Given the description of an element on the screen output the (x, y) to click on. 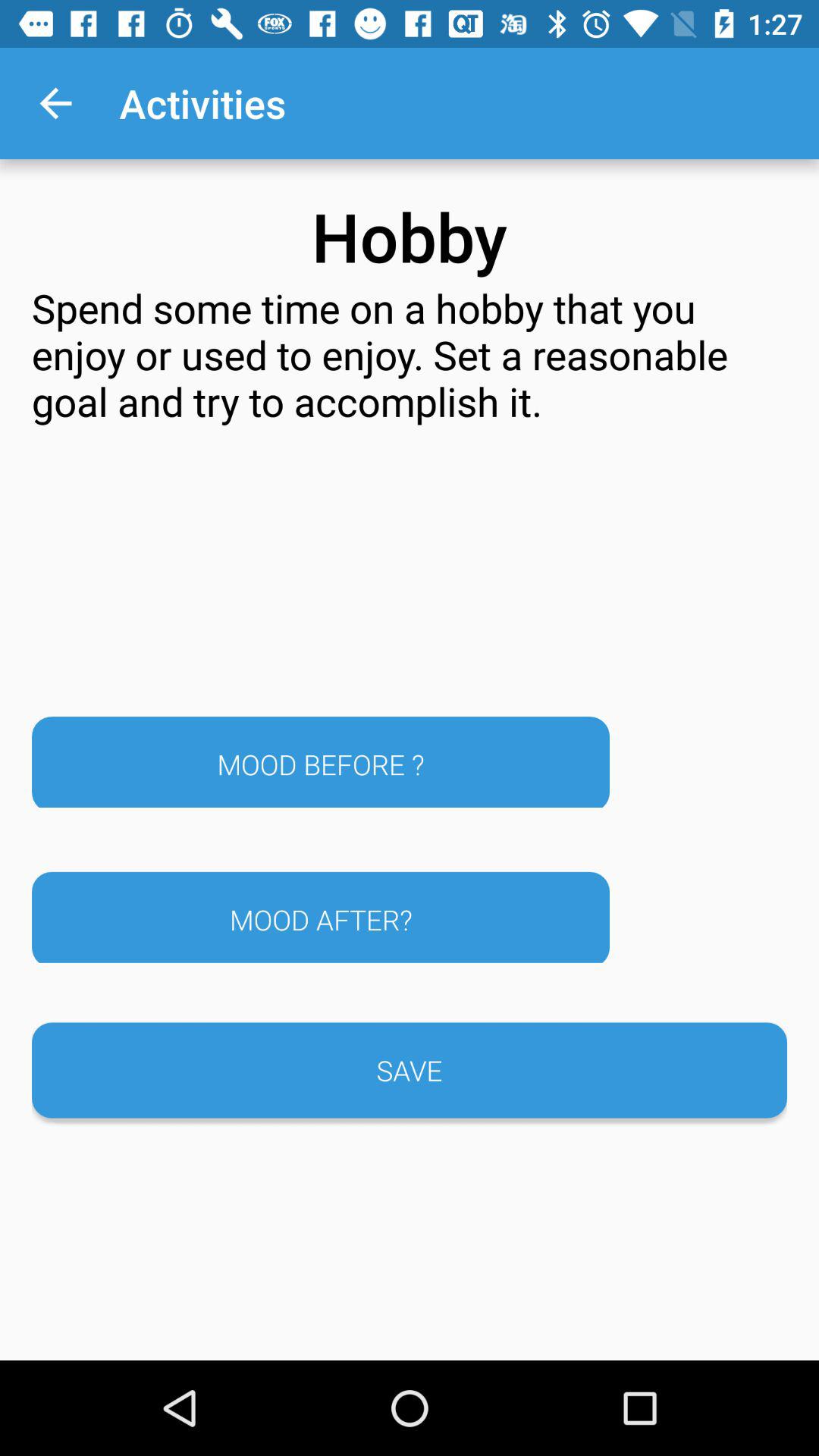
select app to the left of the activities item (55, 103)
